Given the description of an element on the screen output the (x, y) to click on. 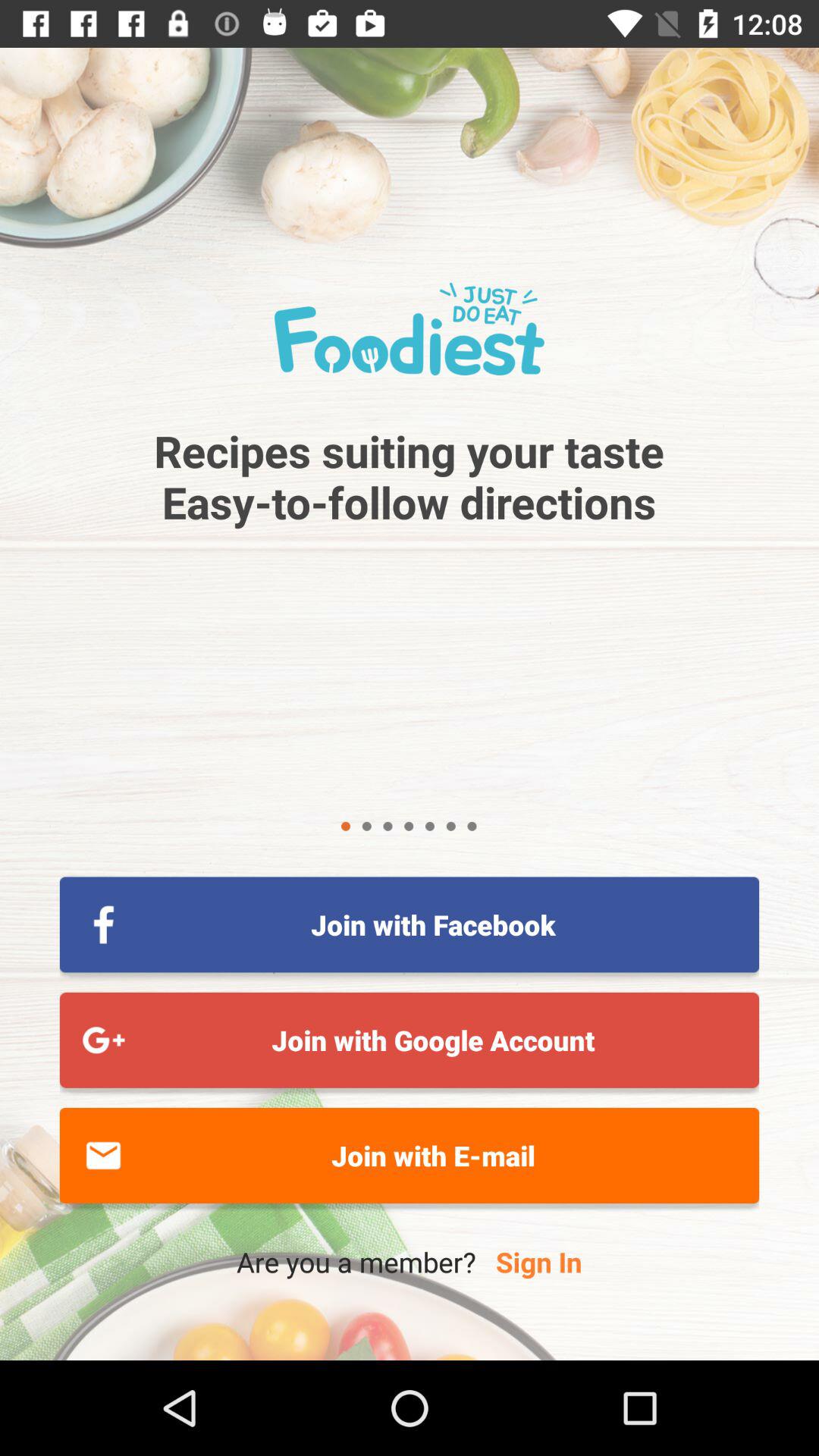
swipe to sign in item (538, 1261)
